Given the description of an element on the screen output the (x, y) to click on. 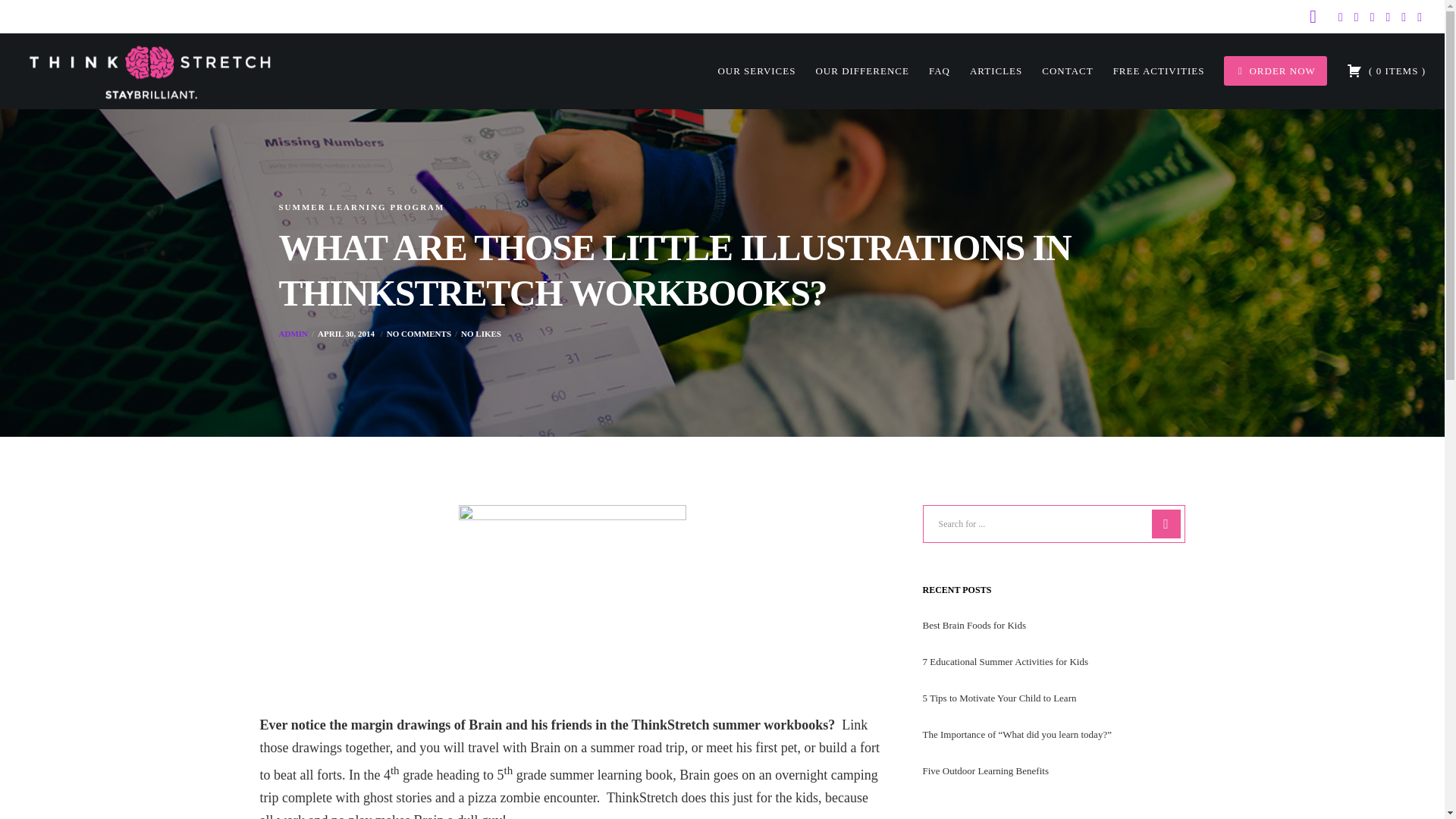
OUR DIFFERENCE (851, 70)
Five Outdoor Learning Benefits (984, 770)
FREE ACTIVITIES (1149, 70)
ARTICLES (986, 70)
5 Tips to Motivate Your Child to Learn (998, 697)
7 Educational Summer Activities for Kids (1004, 661)
Best Brain Foods for Kids (973, 624)
SUMMER LEARNING PROGRAM (362, 206)
ADMIN (293, 333)
OUR SERVICES (745, 70)
ORDER NOW (1265, 70)
CONTACT (1057, 70)
